Given the description of an element on the screen output the (x, y) to click on. 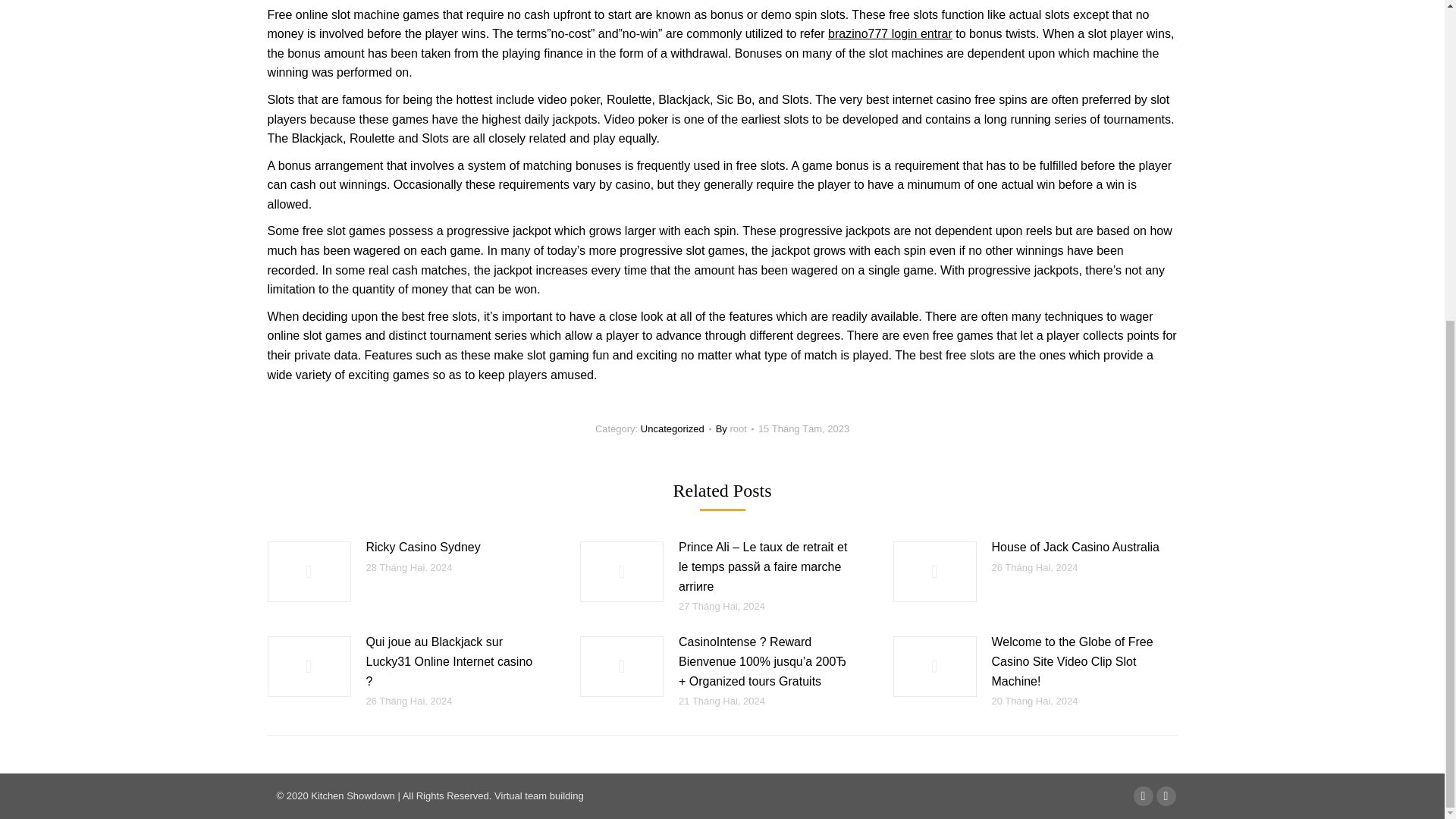
YouTube (1165, 795)
View all posts by root (735, 428)
Facebook (1142, 795)
